Given the description of an element on the screen output the (x, y) to click on. 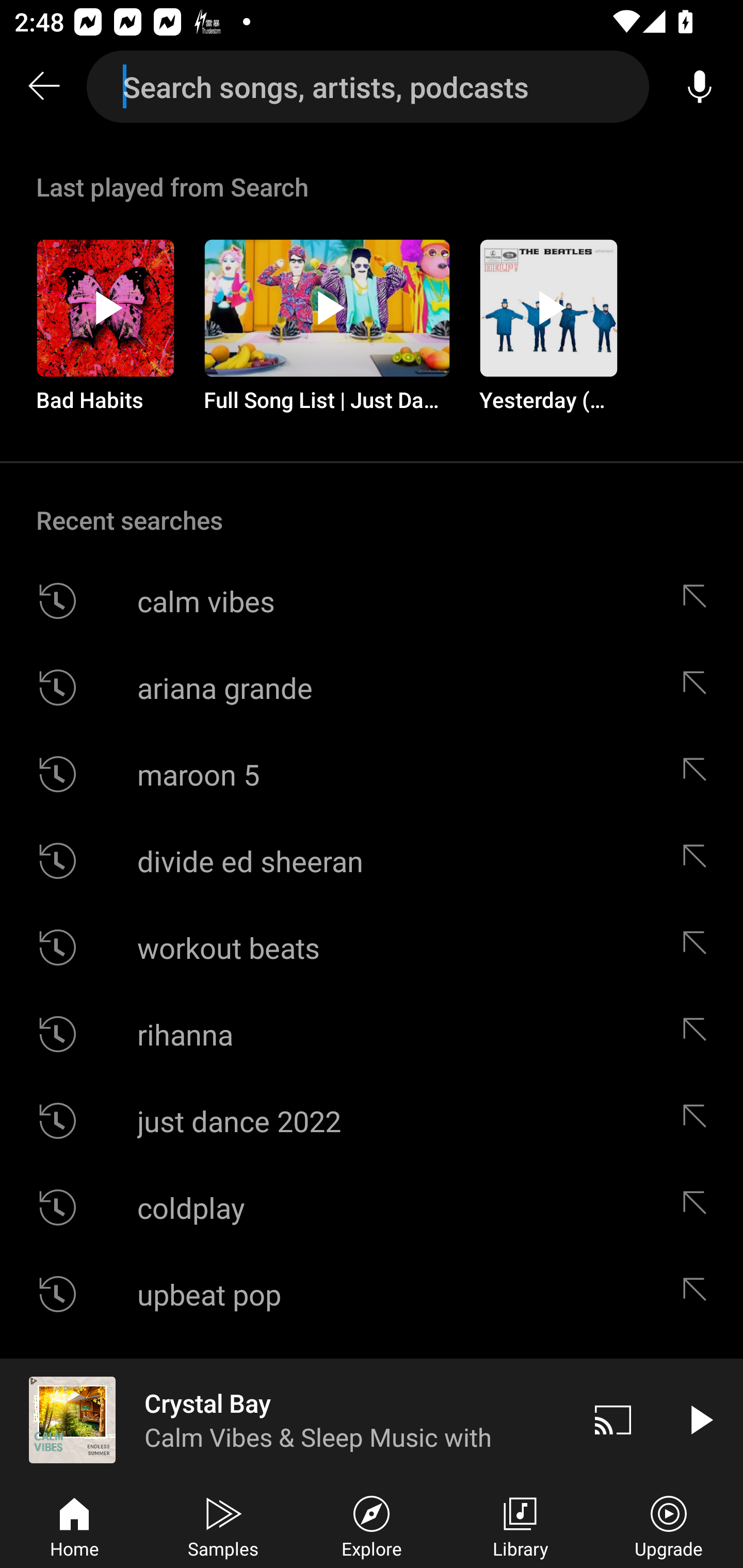
Search back (43, 86)
Search songs, artists, podcasts (367, 86)
Voice search (699, 86)
calm vibes Edit suggestion calm vibes (371, 601)
Edit suggestion calm vibes (699, 601)
ariana grande Edit suggestion ariana grande (371, 687)
Edit suggestion ariana grande (699, 687)
maroon 5 Edit suggestion maroon 5 (371, 773)
Edit suggestion maroon 5 (699, 773)
Edit suggestion divide ed sheeran (699, 860)
workout beats Edit suggestion workout beats (371, 947)
Edit suggestion workout beats (699, 947)
rihanna Edit suggestion rihanna (371, 1033)
Edit suggestion rihanna (699, 1033)
just dance 2022 Edit suggestion just dance 2022 (371, 1120)
Edit suggestion just dance 2022 (699, 1120)
coldplay Edit suggestion coldplay (371, 1207)
Edit suggestion coldplay (699, 1207)
upbeat pop Edit suggestion upbeat pop (371, 1294)
Edit suggestion upbeat pop (699, 1294)
Cast. Disconnected (612, 1419)
Play video (699, 1419)
Home (74, 1524)
Samples (222, 1524)
Explore (371, 1524)
Library (519, 1524)
Upgrade (668, 1524)
